Given the description of an element on the screen output the (x, y) to click on. 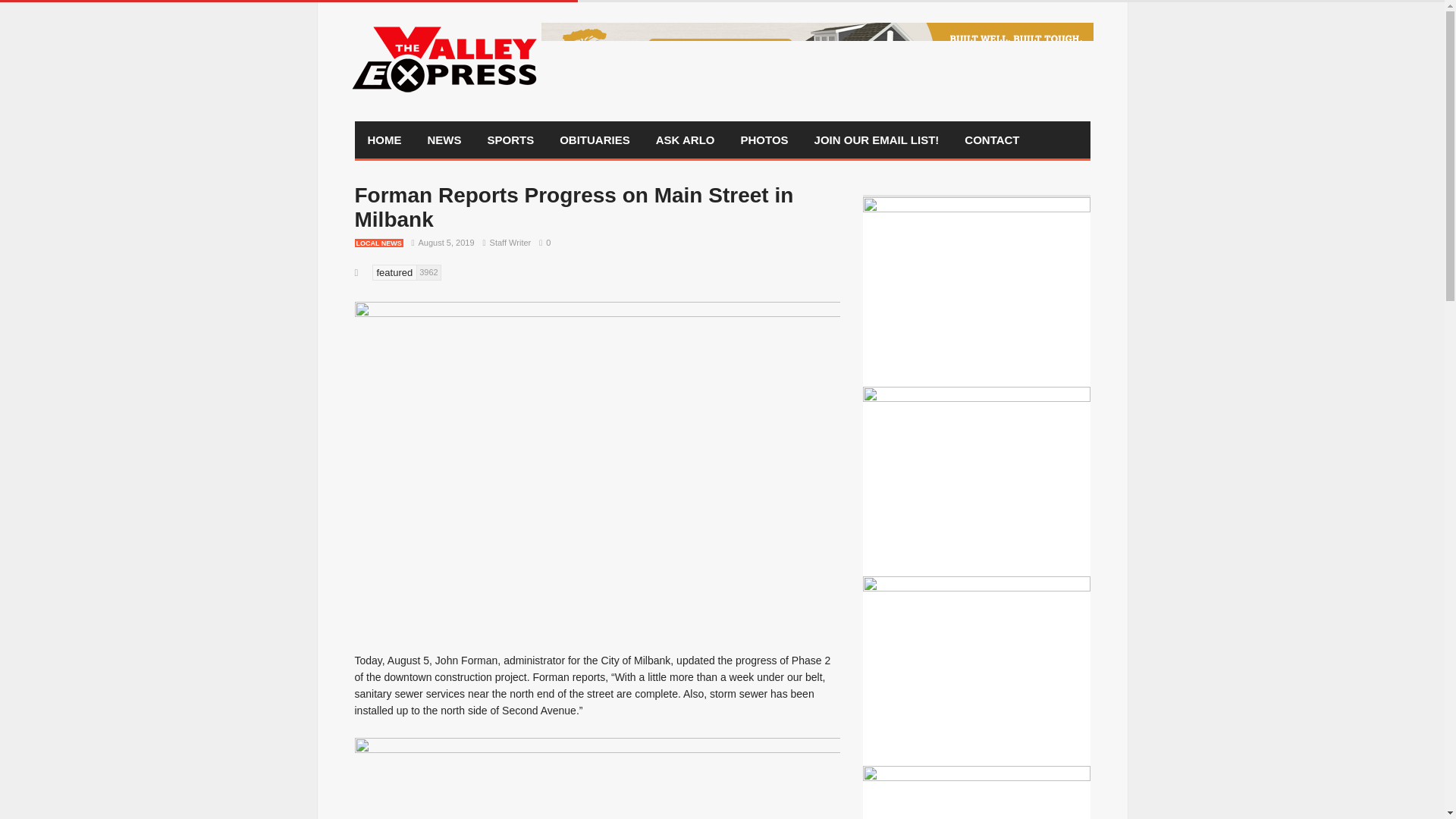
NEWS (443, 139)
0 (541, 242)
PHOTOS (763, 139)
Join Our Email List! (877, 139)
LOCAL NEWS (379, 243)
Home (384, 139)
HOME (384, 139)
JOIN OUR EMAIL LIST! (877, 139)
ASK ARLO (685, 139)
Forman Reports Progress on Main Street in Milbank (574, 206)
